Given the description of an element on the screen output the (x, y) to click on. 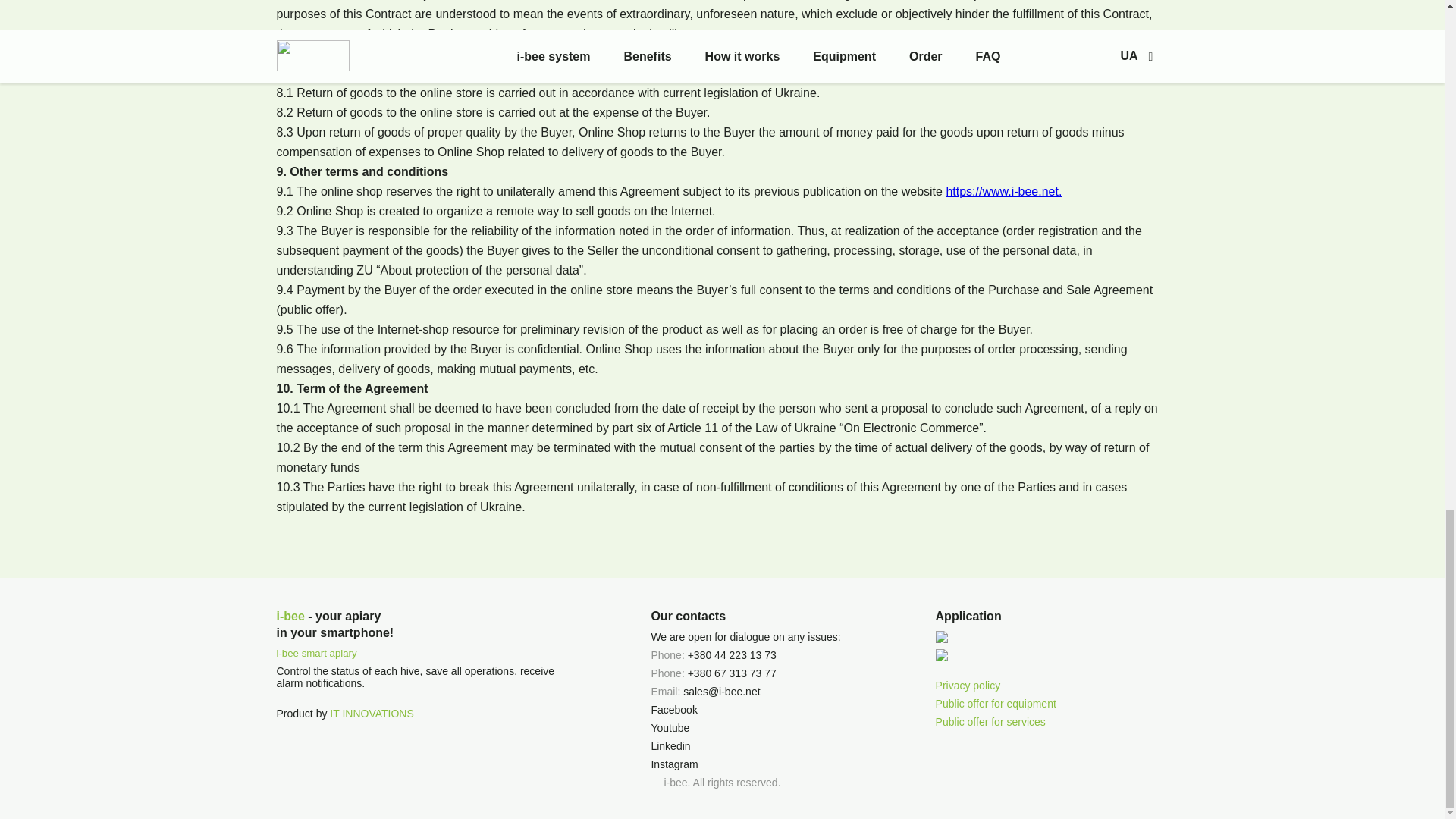
Public offer for services (996, 721)
IT INNOVATIONS (371, 713)
Facebook (673, 709)
Privacy policy (996, 685)
Linkedin (670, 746)
Public offer for equipment (996, 703)
Youtube (669, 727)
Instagram (673, 764)
